Given the description of an element on the screen output the (x, y) to click on. 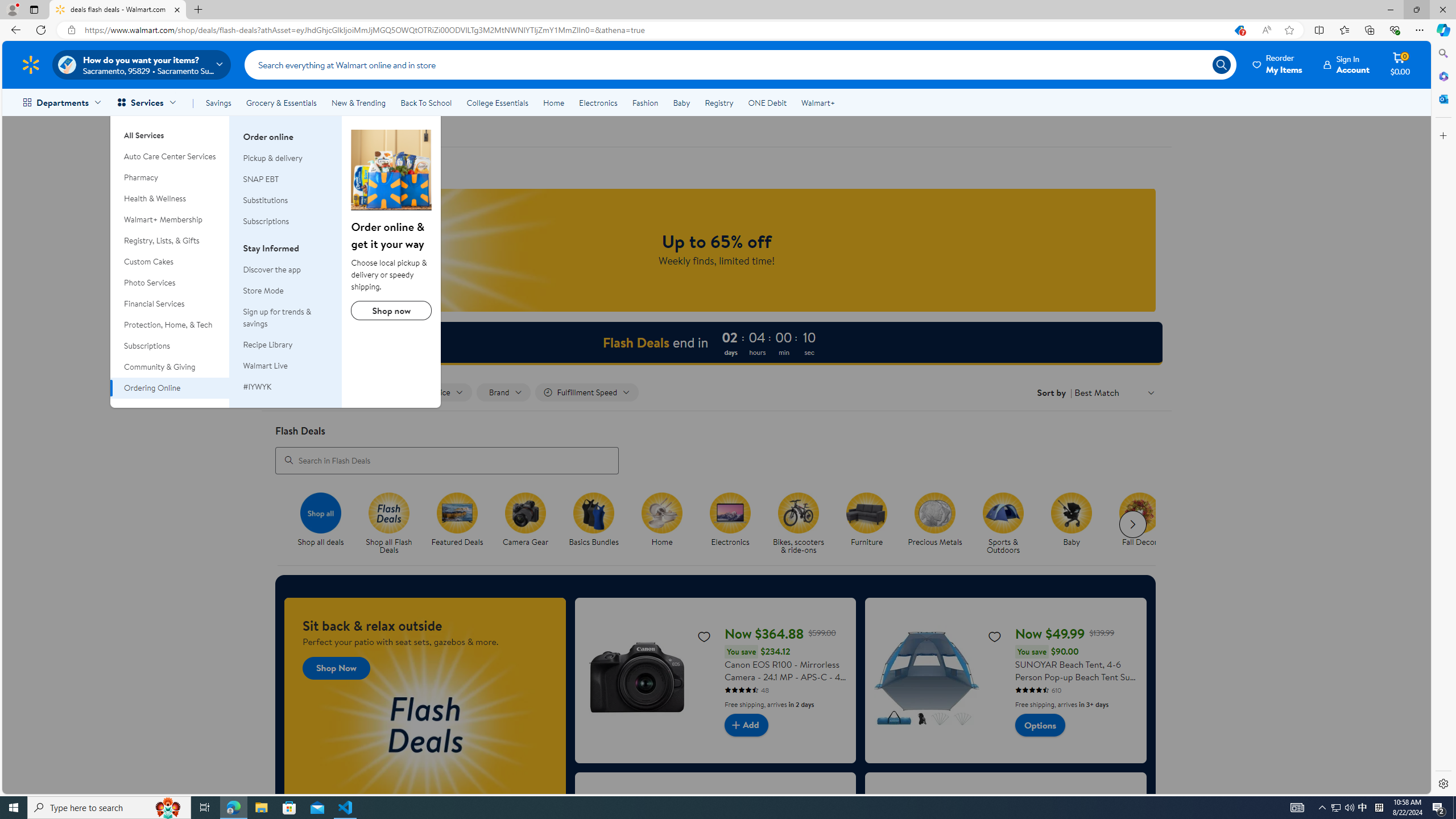
Back To School (425, 102)
Walmart+ (817, 102)
Savings (217, 102)
Electronics (734, 524)
Subscriptions (266, 220)
Class: ld ld-ChevronDown pa0 ml6 (1151, 392)
College Essentials (496, 102)
Protection, Home, & Tech (170, 324)
Recipe Library (267, 344)
Shop all Flash Deals (393, 524)
